Given the description of an element on the screen output the (x, y) to click on. 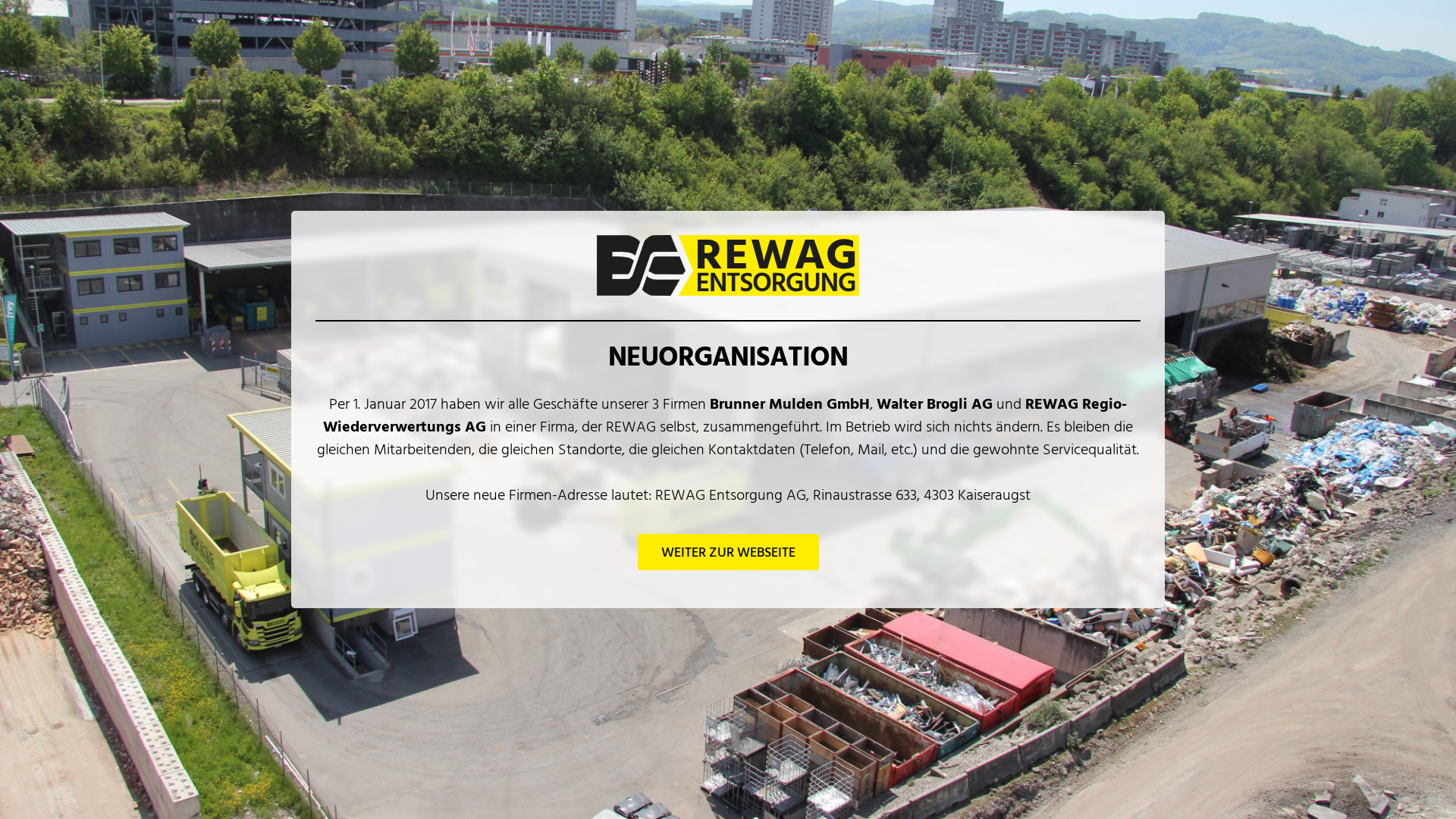
WEITER ZUR WEBSEITE Element type: text (727, 550)
